Given the description of an element on the screen output the (x, y) to click on. 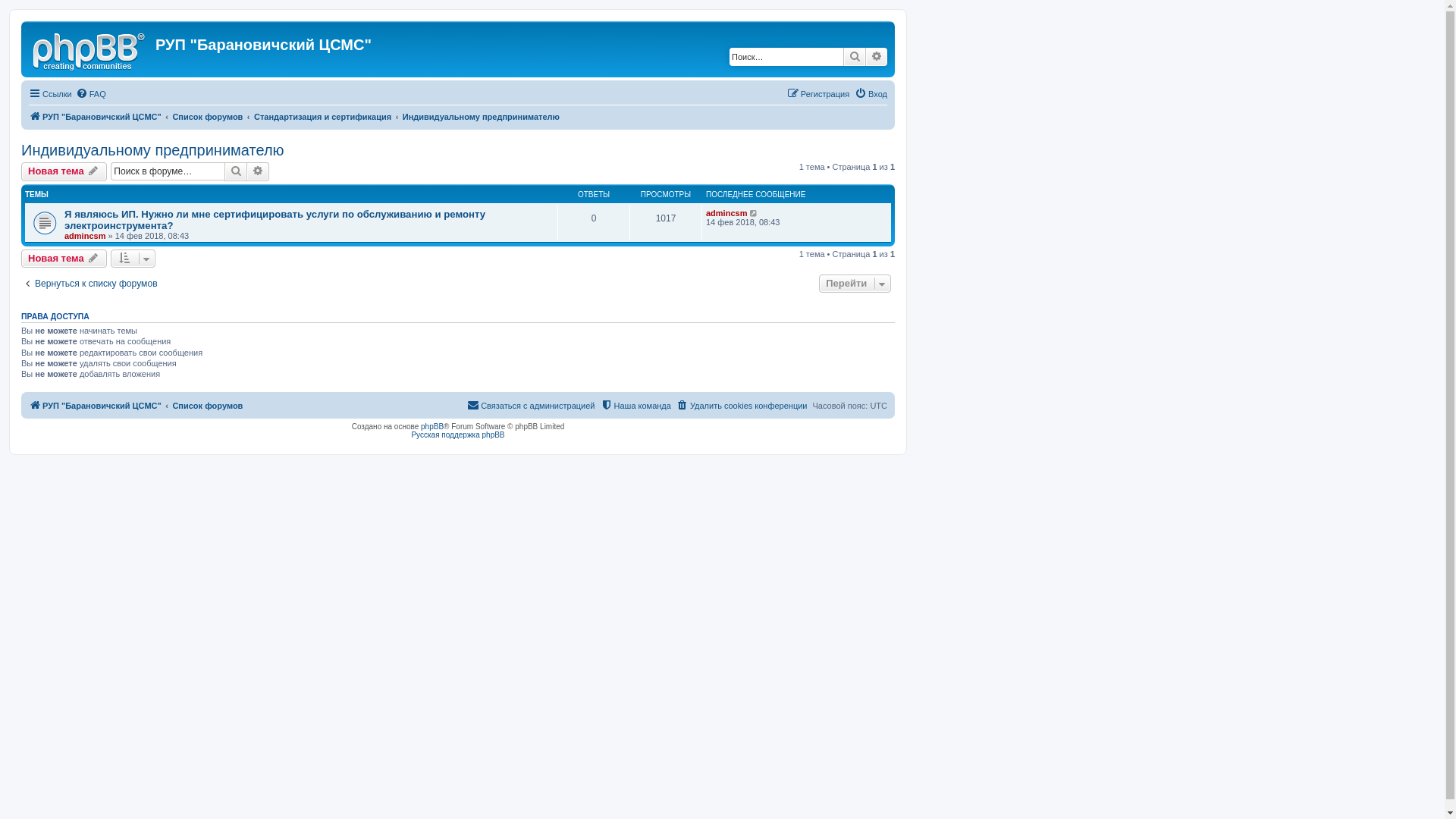
admincsm Element type: text (726, 212)
phpBB Element type: text (431, 426)
FAQ Element type: text (90, 93)
admincsm Element type: text (84, 235)
